Given the description of an element on the screen output the (x, y) to click on. 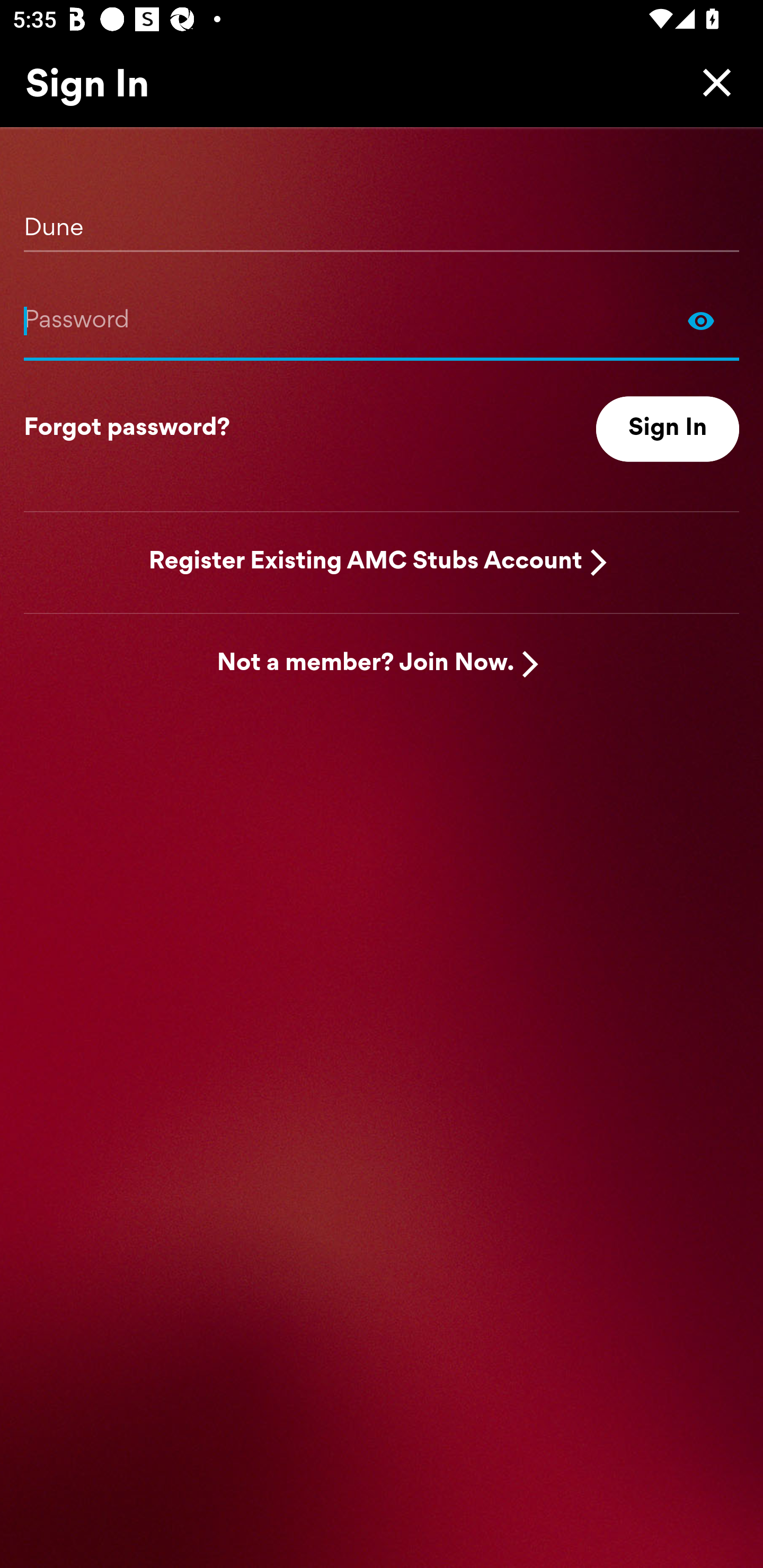
Close (712, 82)
Dune (381, 220)
Show Password (381, 320)
Show Password (701, 320)
Forgot password? (126, 428)
Sign In (667, 428)
Register Existing AMC Stubs Account (365, 561)
Not a member? Join Now. (365, 663)
